Given the description of an element on the screen output the (x, y) to click on. 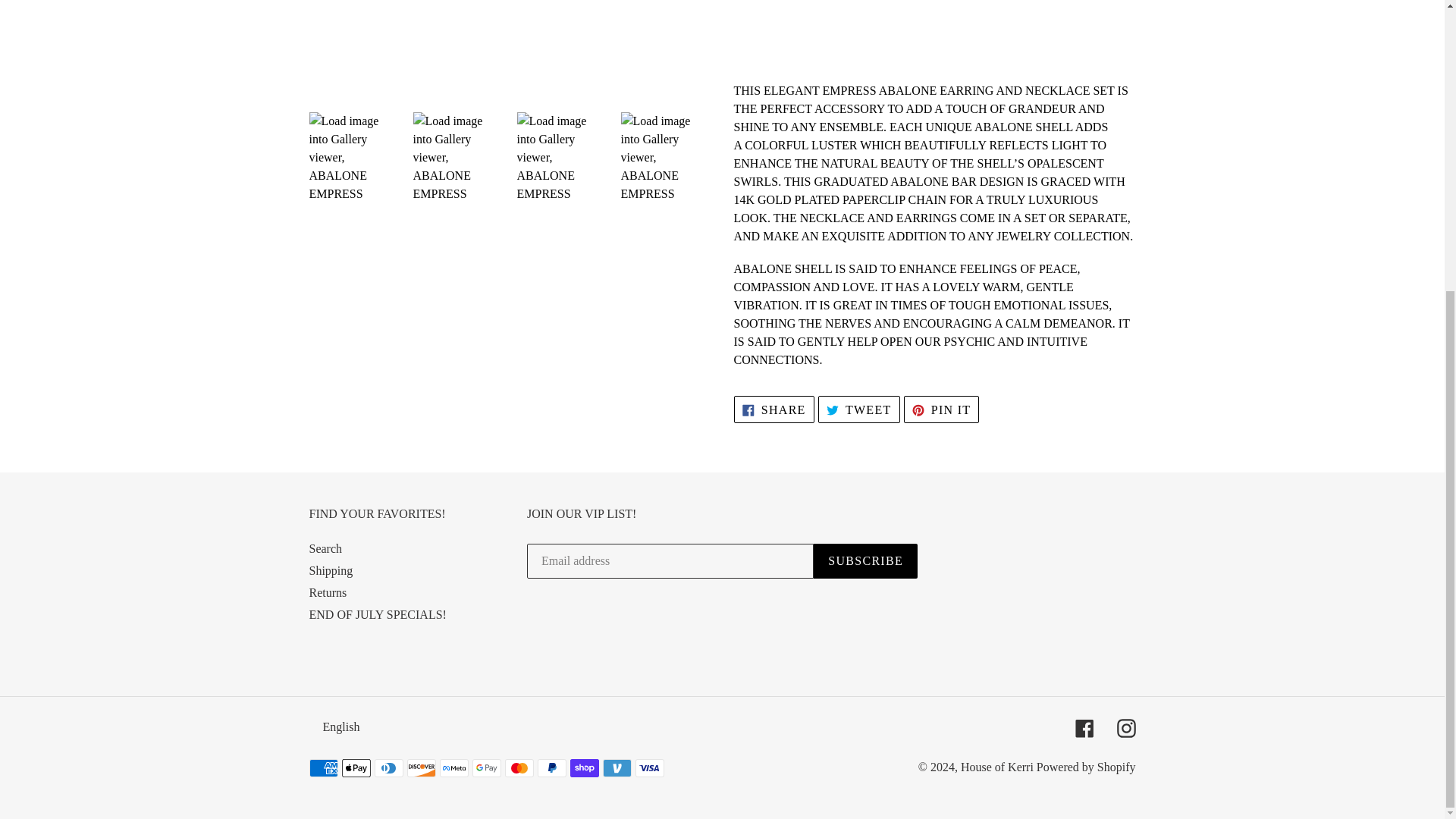
Shipping (858, 408)
SUBSCRIBE (773, 408)
END OF JULY SPECIALS! (330, 570)
Instagram (865, 560)
Search (377, 614)
Facebook (1125, 727)
Returns (941, 408)
